Given the description of an element on the screen output the (x, y) to click on. 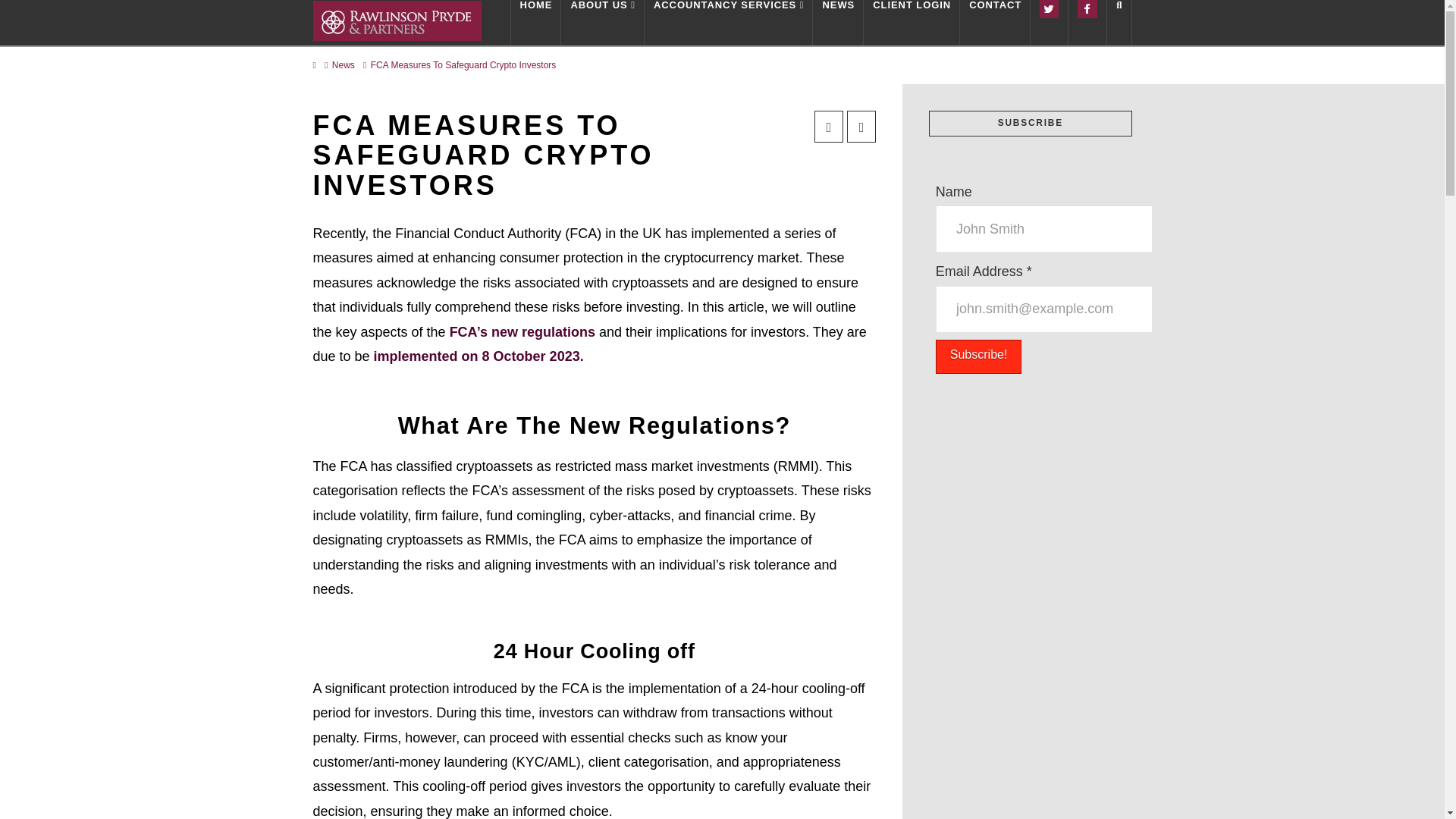
RPP (396, 20)
HOME (536, 22)
NEWS (837, 22)
CLIENT LOGIN (911, 22)
ACCOUNTANCY SERVICES (729, 22)
ABOUT US (602, 22)
Subscribe! (979, 356)
You Are Here (463, 65)
CONTACT (994, 22)
